Given the description of an element on the screen output the (x, y) to click on. 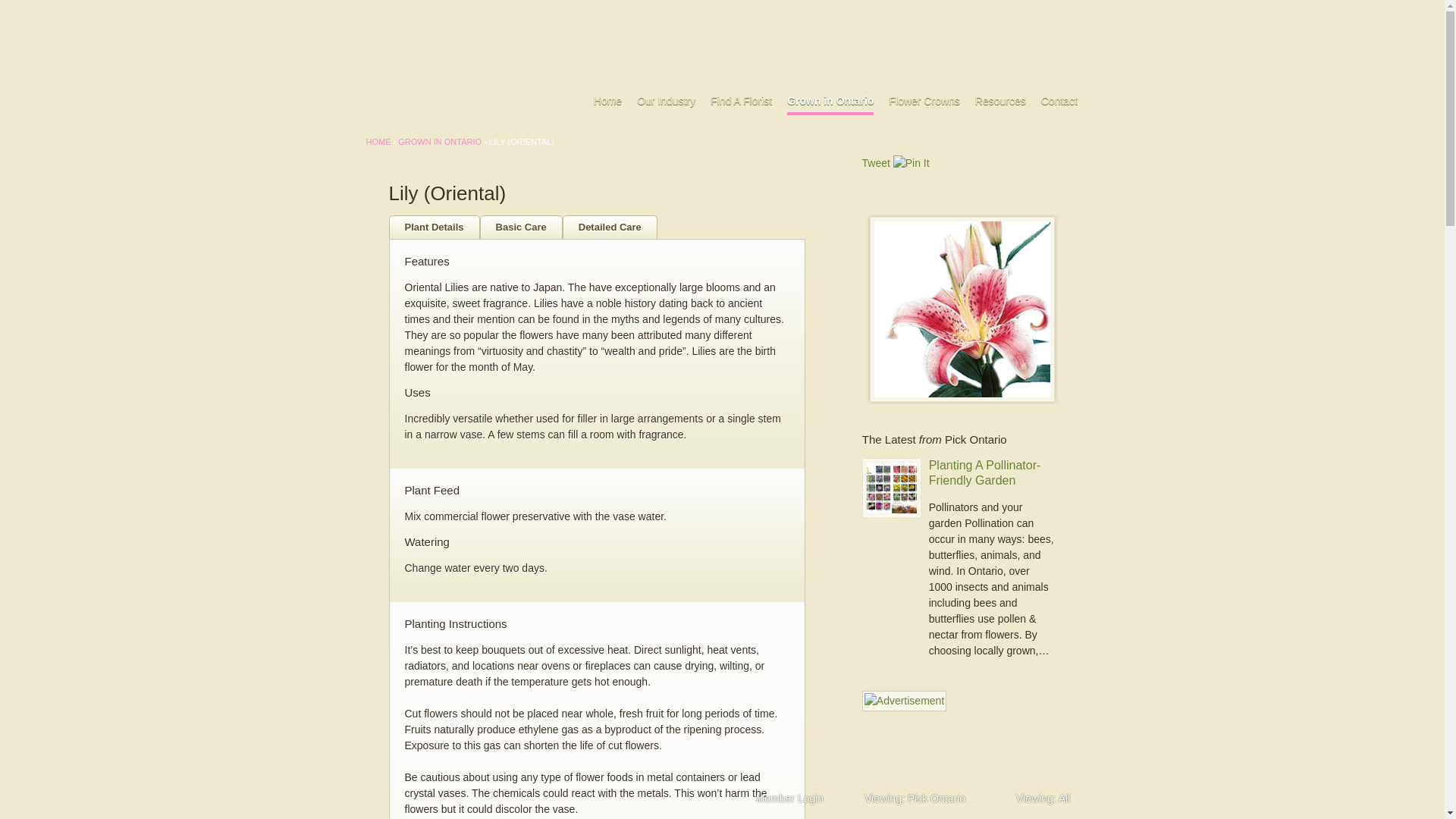
HOME (377, 141)
Advertise Here! (903, 700)
Plant Details (433, 227)
Detailed Care (610, 227)
GROWN IN ONTARIO (439, 141)
Contact (1059, 100)
Pinterest (416, 11)
Find A Florist (740, 100)
Flower Crowns (923, 100)
Twitter (382, 11)
Home (607, 100)
RSS (434, 11)
YouTube (400, 11)
Pin It (911, 163)
Resources (1000, 100)
